Given the description of an element on the screen output the (x, y) to click on. 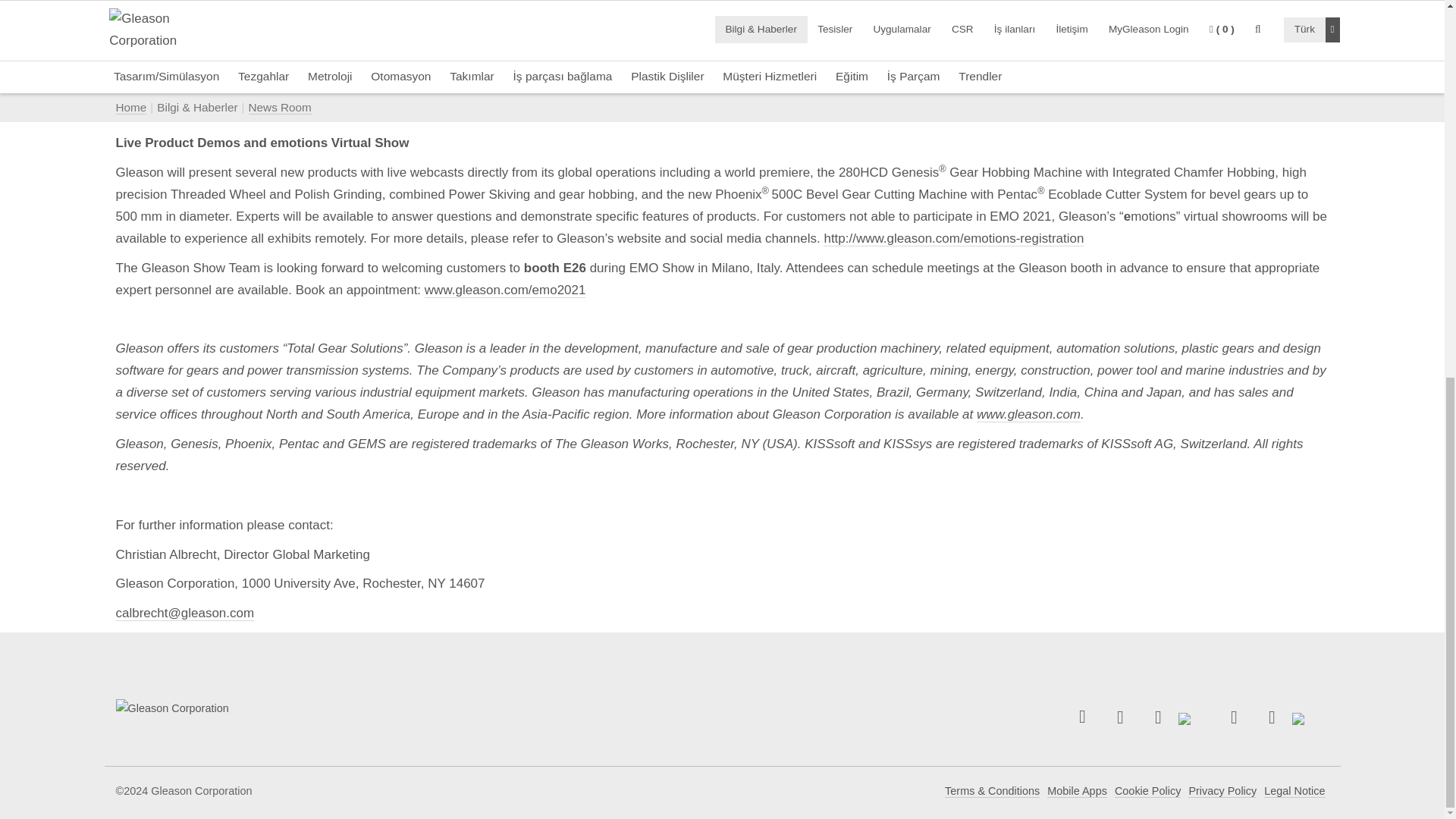
Twitter (1195, 717)
Line (1309, 717)
LinkedIn (1158, 717)
YouTube (1233, 717)
Facebook (1120, 717)
Instagram (1271, 717)
News Feed (1082, 716)
